Given the description of an element on the screen output the (x, y) to click on. 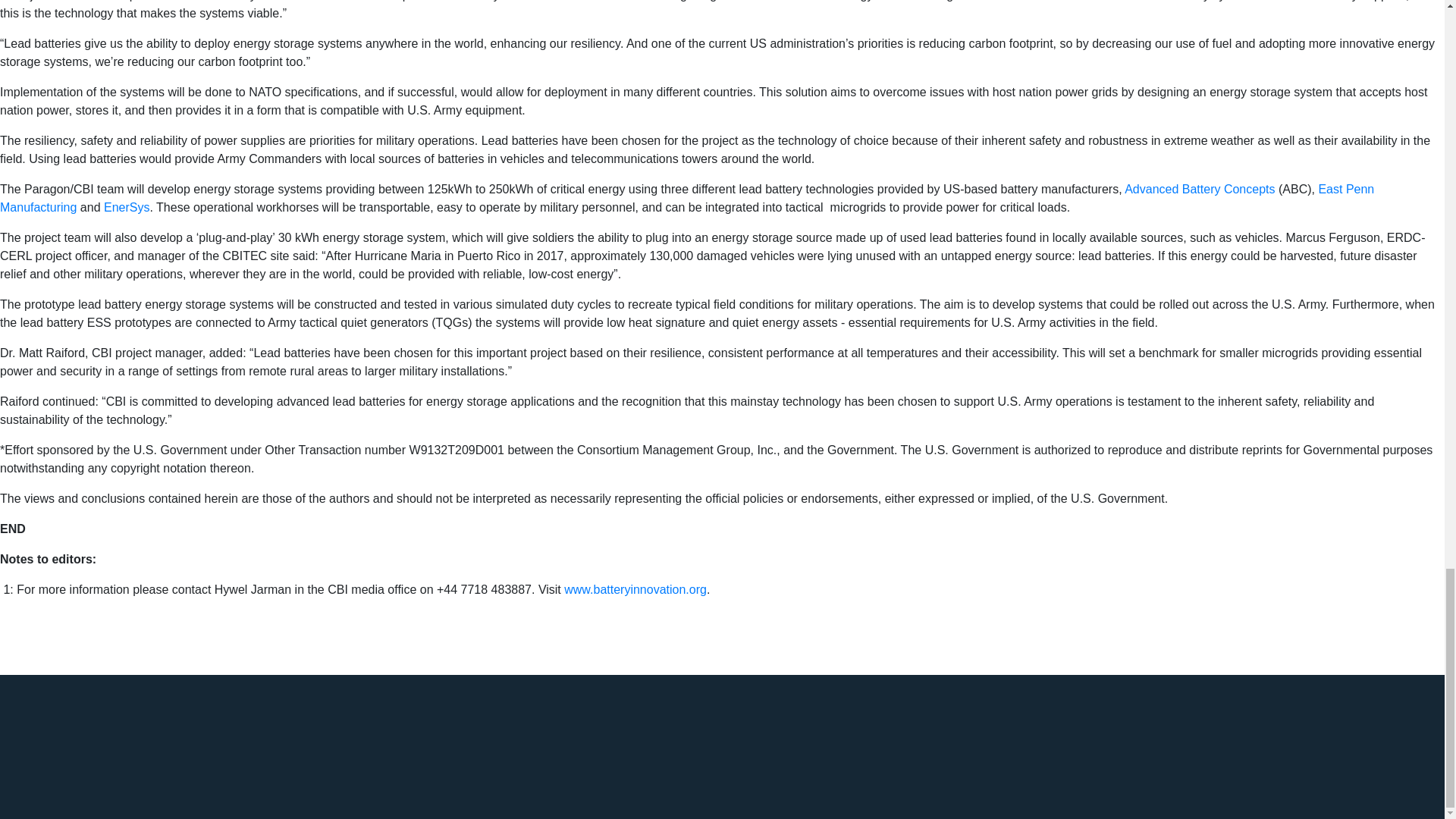
East Penn Manufacturing (687, 197)
Advanced Battery Concepts (1198, 188)
EnerSys (124, 206)
www.batteryinnovation.org (633, 589)
